Given the description of an element on the screen output the (x, y) to click on. 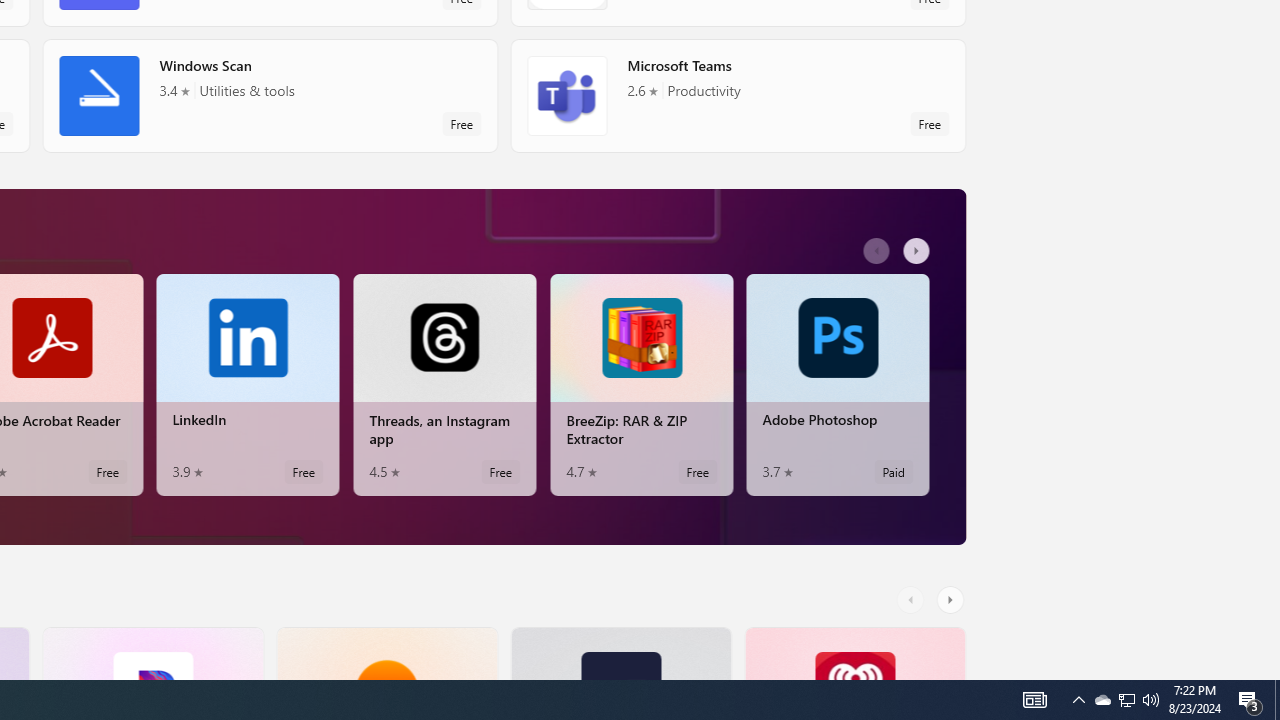
Pandora. Average rating of 4.5 out of five stars. Free   (152, 653)
AutomationID: LeftScrollButton (913, 599)
AutomationID: RightScrollButton (952, 599)
LinkedIn. Average rating of 3.9 out of five stars. Free   (247, 384)
